Given the description of an element on the screen output the (x, y) to click on. 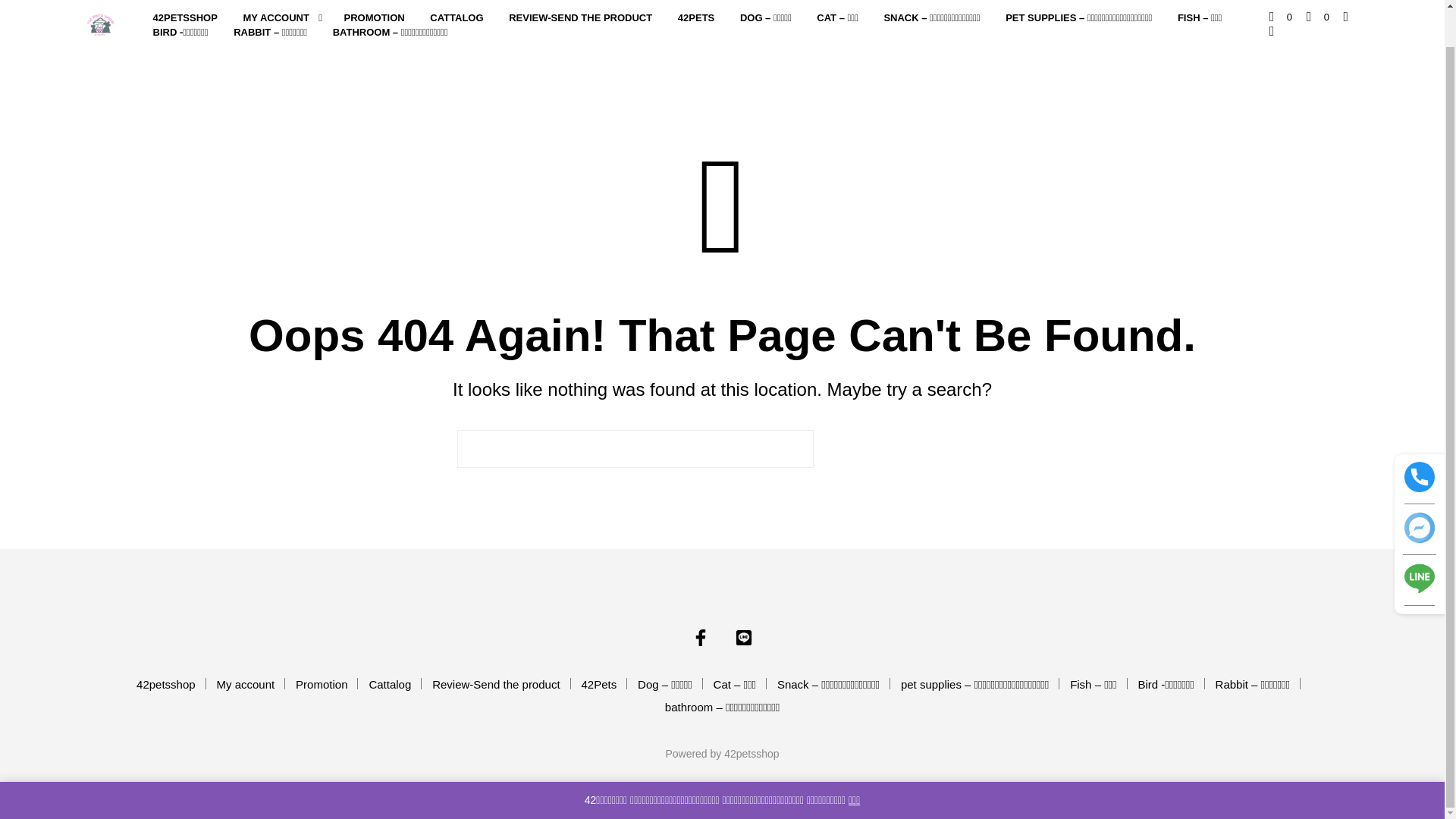
Review-Send the product (495, 684)
CATTALOG (457, 17)
My account (245, 684)
Search (904, 448)
42PETSSHOP (184, 17)
0 (1317, 17)
42petsshop (165, 684)
Search (904, 448)
42petsshop  (700, 637)
PROMOTION (374, 17)
